Given the description of an element on the screen output the (x, y) to click on. 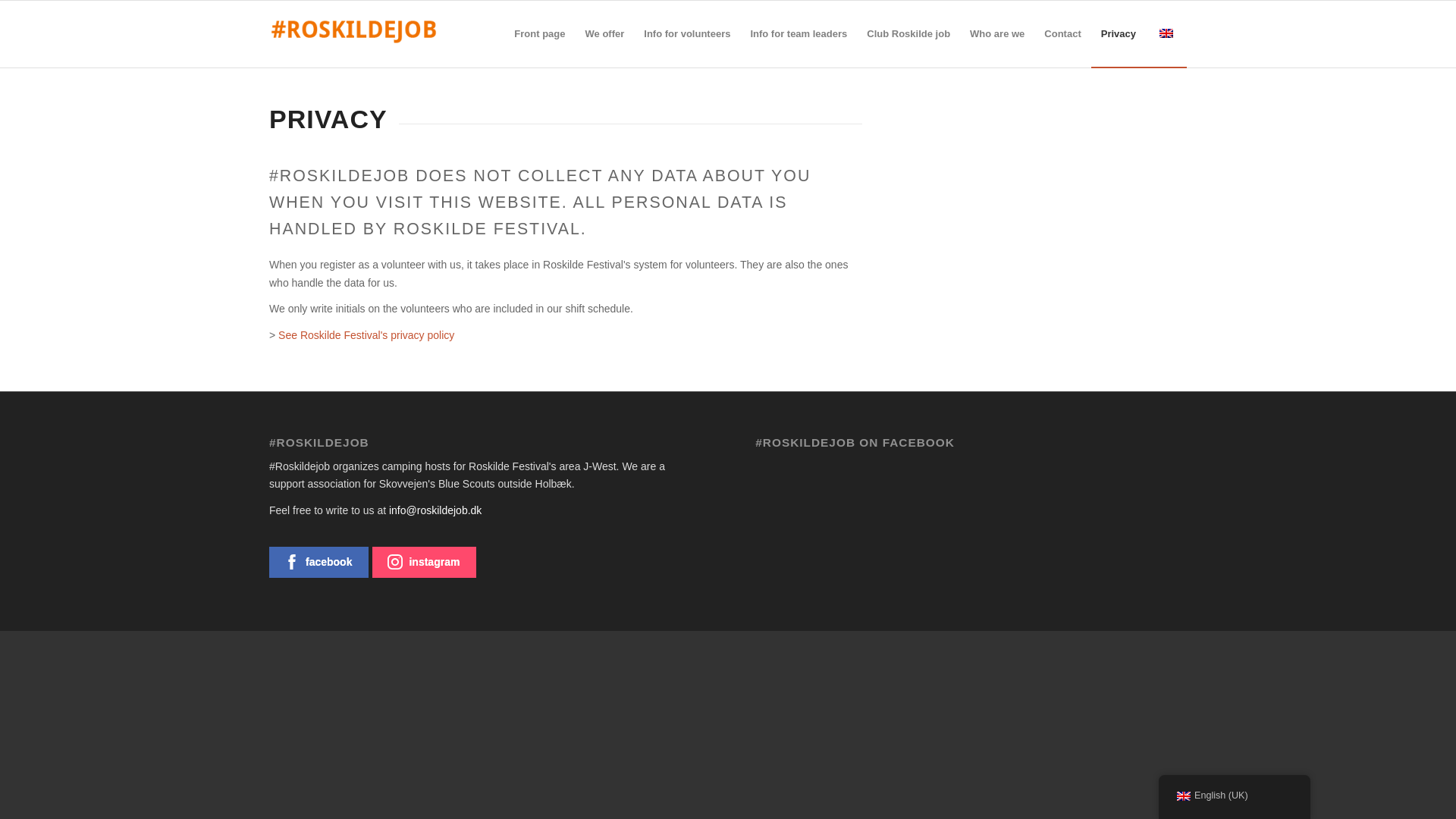
Contact (1061, 33)
Privacy (1117, 33)
facebook (318, 562)
Info for volunteers (686, 33)
Info for team leaders (798, 33)
See Roskilde Festival's privacy policy (366, 335)
Club Roskilde job (908, 33)
Front page (539, 33)
instagram (424, 562)
English (1165, 32)
roskildejoblogo (353, 27)
Who are we (996, 33)
We offer (604, 33)
